Given the description of an element on the screen output the (x, y) to click on. 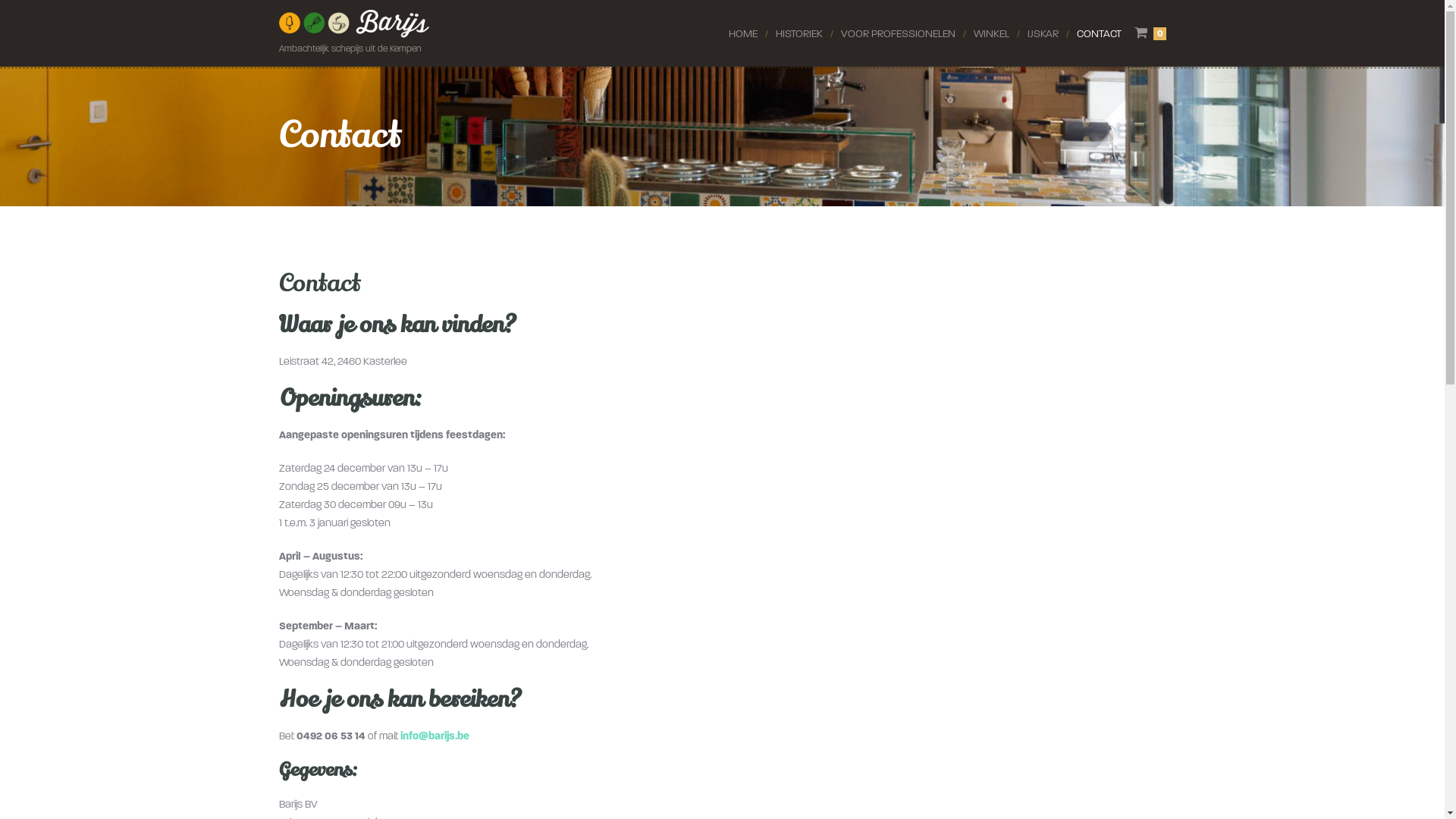
CONTACT Element type: text (1098, 34)
HOME Element type: text (742, 34)
IJSKAR Element type: text (1041, 34)
WINKEL Element type: text (991, 34)
0 Element type: text (1150, 33)
info@barijs.be Element type: text (434, 735)
HISTORIEK Element type: text (798, 34)
VOOR PROFESSIONELEN Element type: text (897, 34)
